Given the description of an element on the screen output the (x, y) to click on. 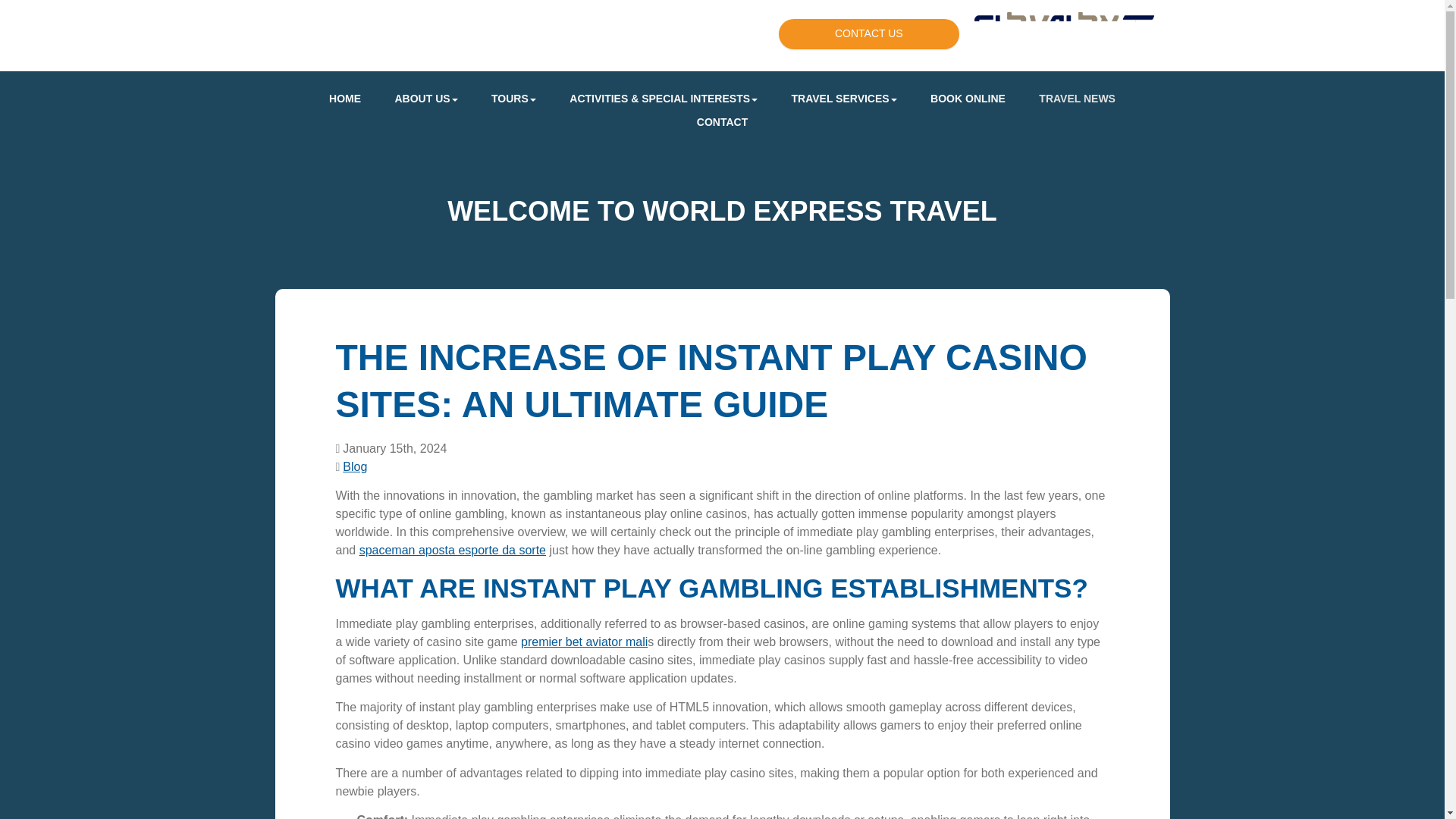
TOURS (513, 98)
BOOK ONLINE (967, 98)
Date Published (390, 448)
ABOUT US (424, 98)
HOME (344, 98)
TRAVEL SERVICES (844, 98)
CONTACT (721, 122)
Categories (338, 466)
CONTACT US (868, 33)
TRAVEL NEWS (1077, 98)
